Given the description of an element on the screen output the (x, y) to click on. 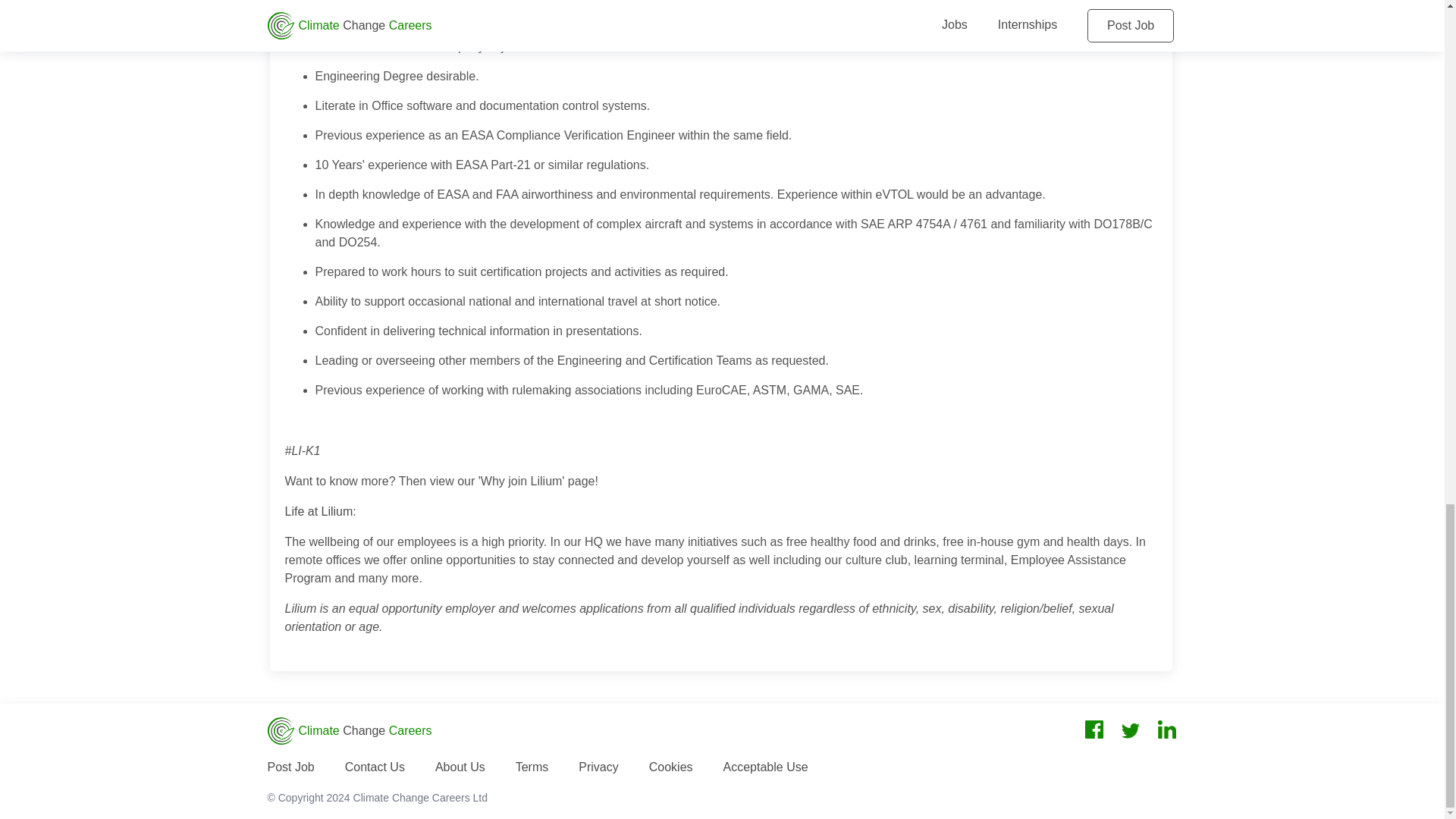
Terms (531, 767)
Acceptable Use (765, 767)
About Us (459, 767)
Contact Us (374, 767)
Privacy (597, 767)
Climate Change Careers (348, 730)
Cookies (671, 767)
Post Job (290, 767)
